Given the description of an element on the screen output the (x, y) to click on. 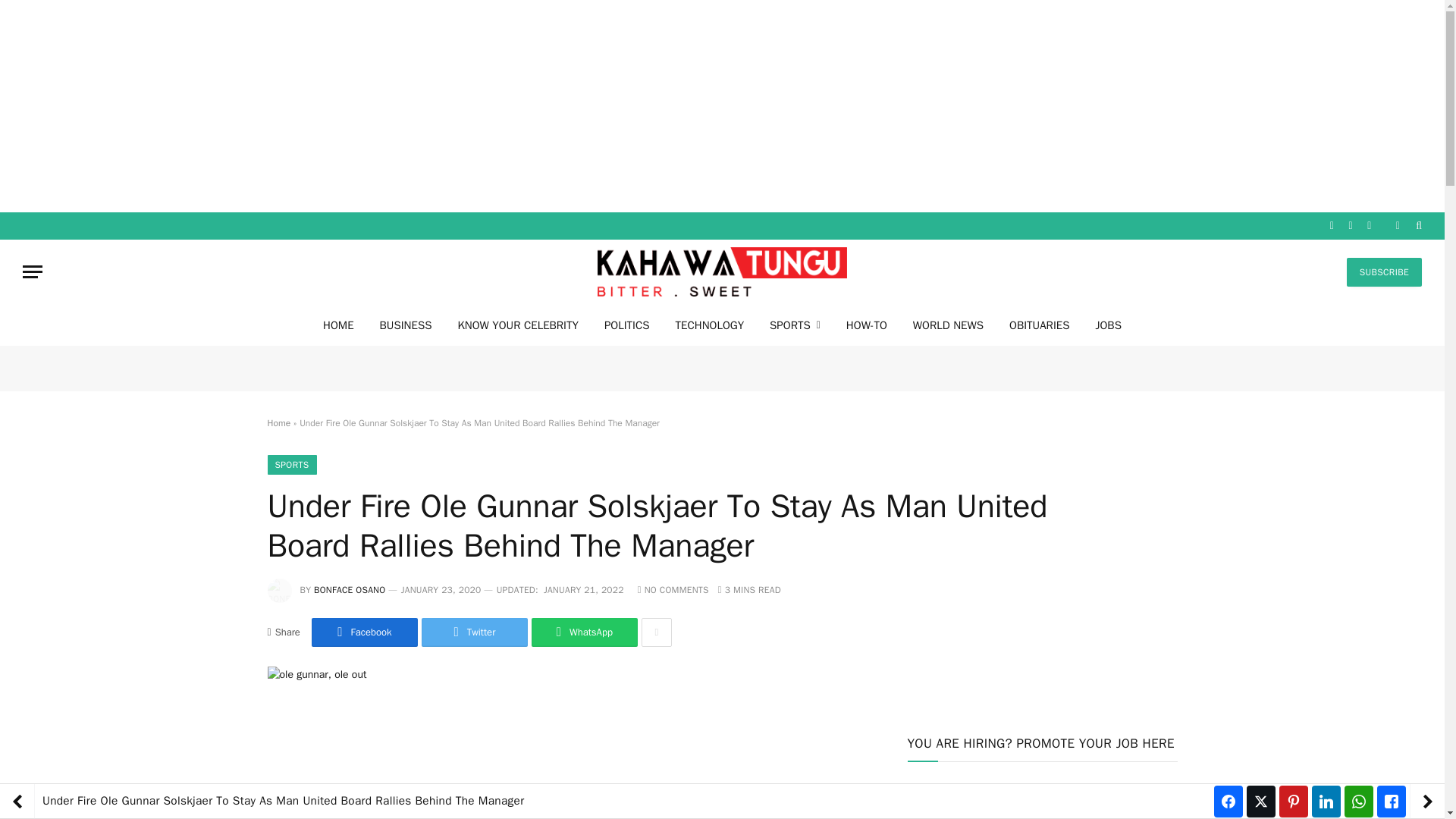
KahawaTungu (721, 271)
BONFACE OSANO (349, 589)
SUBSCRIBE (1384, 271)
HOME (338, 324)
SPORTS (290, 465)
KNOW YOUR CELEBRITY (517, 324)
Posts by Bonface Osano (349, 589)
POLITICS (626, 324)
TECHNOLOGY (709, 324)
WhatsApp (584, 632)
Show More Social Sharing (656, 632)
Facebook (364, 632)
SPORTS (794, 324)
Home (277, 422)
